Given the description of an element on the screen output the (x, y) to click on. 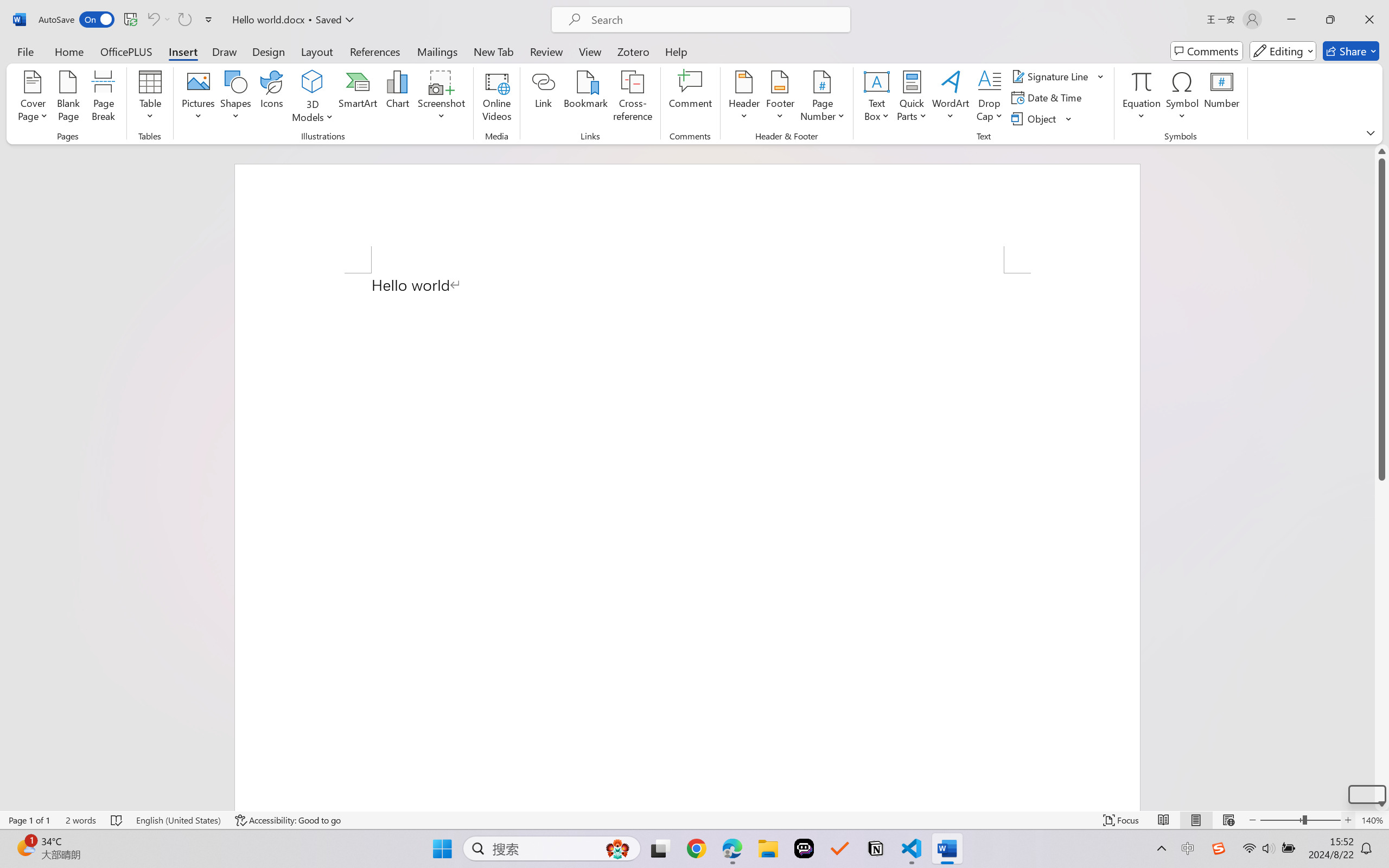
AutomationID: DynamicSearchBoxGleamImage (617, 848)
More Options (1141, 112)
Blank Page (67, 97)
Quick Access Toolbar (127, 19)
Link (543, 97)
Page Number Page 1 of 1 (29, 819)
Can't Repeat (184, 19)
Text Box (876, 97)
Customize Quick Access Toolbar (208, 19)
Home (69, 51)
Zoom In (1348, 819)
Page Break (103, 97)
Cross-reference... (632, 97)
Minimize (1291, 19)
